Given the description of an element on the screen output the (x, y) to click on. 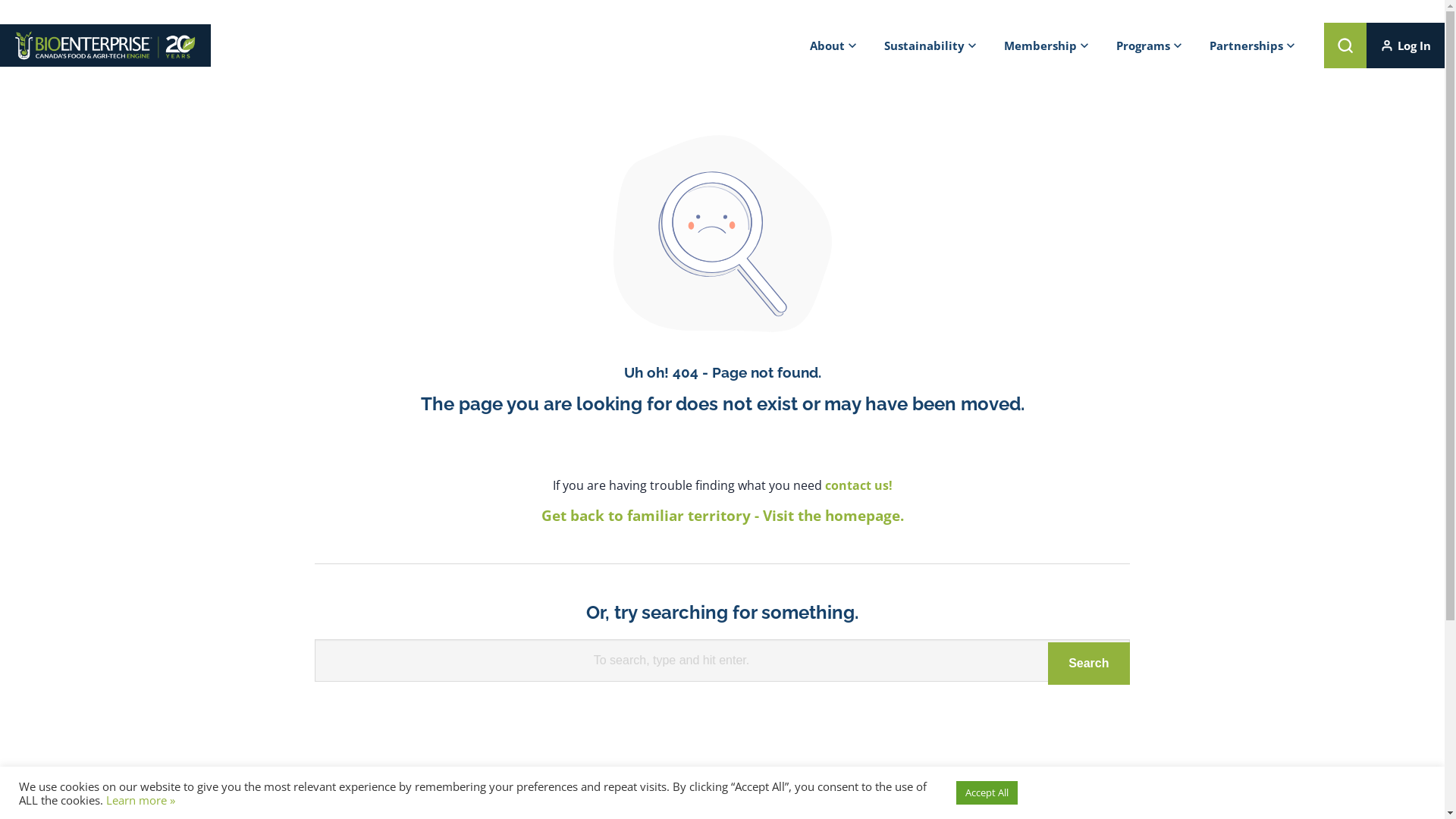
Membership Element type: text (1046, 45)
Search Element type: text (1089, 663)
Programs Element type: text (1148, 45)
Sustainability Element type: text (930, 45)
Partnerships Element type: text (1251, 45)
Log In Element type: text (1405, 45)
Accept All Element type: text (986, 792)
About Element type: text (833, 45)
contact us! Element type: text (858, 484)
Get back to familiar territory - Visit the homepage. Element type: text (722, 515)
